Given the description of an element on the screen output the (x, y) to click on. 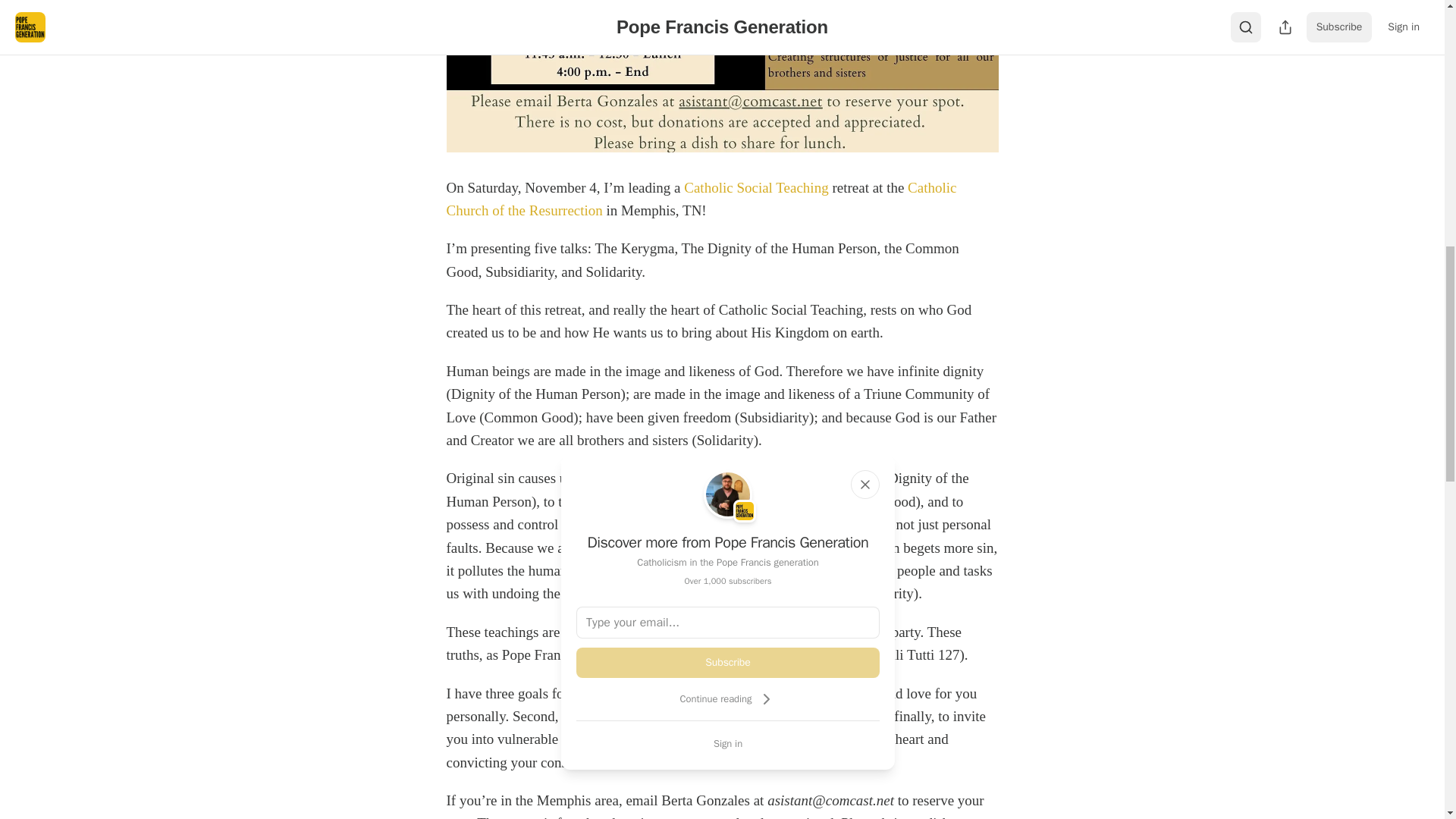
Sign in (727, 743)
Subscribe (727, 662)
Catholic Social Teaching (756, 186)
Catholic Church of the Resurrection (700, 198)
